Given the description of an element on the screen output the (x, y) to click on. 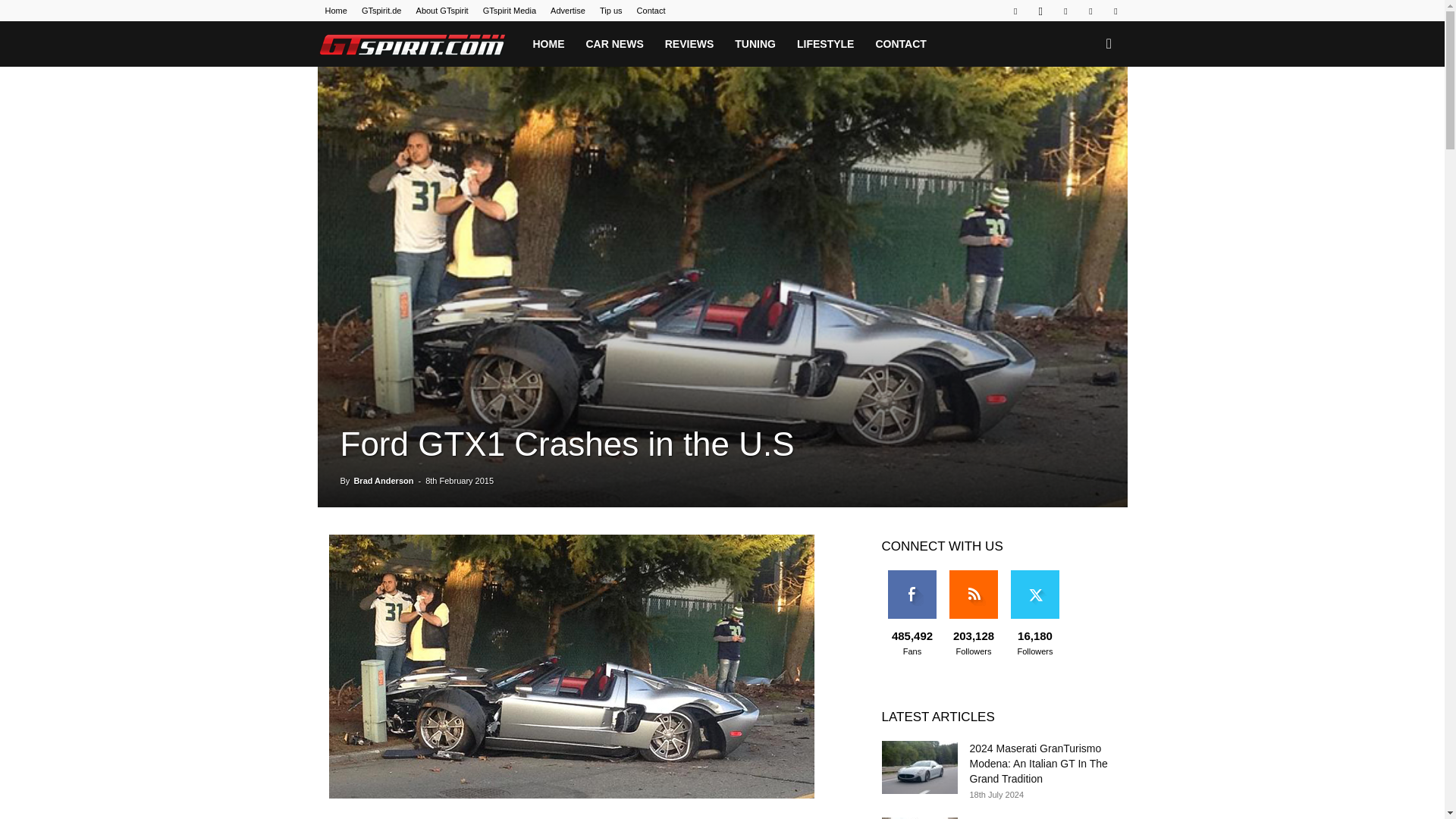
GTspirit (419, 43)
LIFESTYLE (825, 43)
Instagram (1040, 10)
GTspirit.de (381, 10)
CAR NEWS (614, 43)
Advertise (567, 10)
HOME (548, 43)
CONTACT (900, 43)
Twitter (1090, 10)
About GTspirit (442, 10)
GTspirit Media (509, 10)
Brad Anderson (383, 480)
Search (1085, 109)
Youtube (1114, 10)
